Given the description of an element on the screen output the (x, y) to click on. 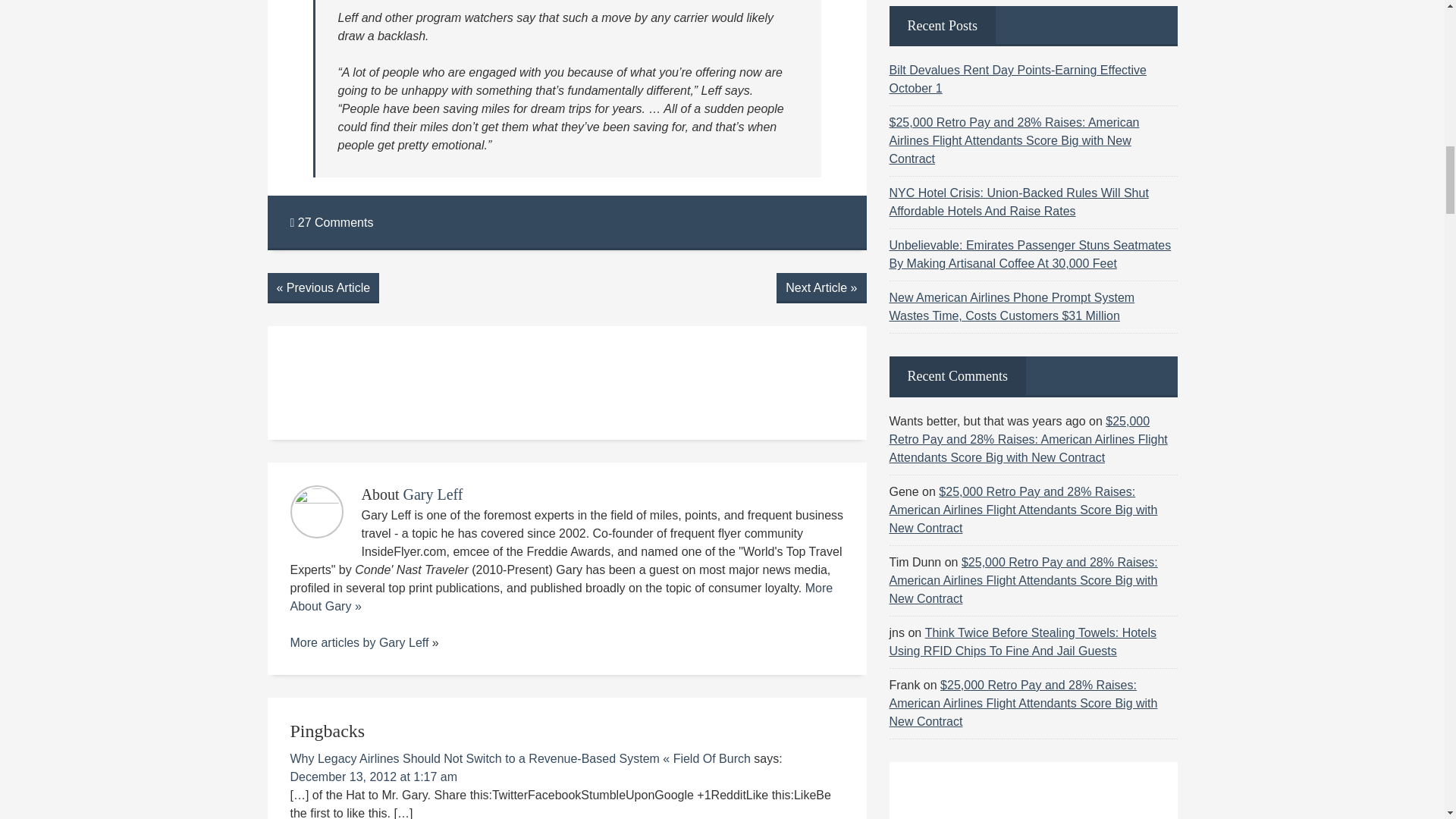
Gary Leff (403, 642)
Gary Leff (433, 494)
More articles by (333, 642)
27 Comments (330, 222)
December 13, 2012 at 1:17 am (373, 776)
